Given the description of an element on the screen output the (x, y) to click on. 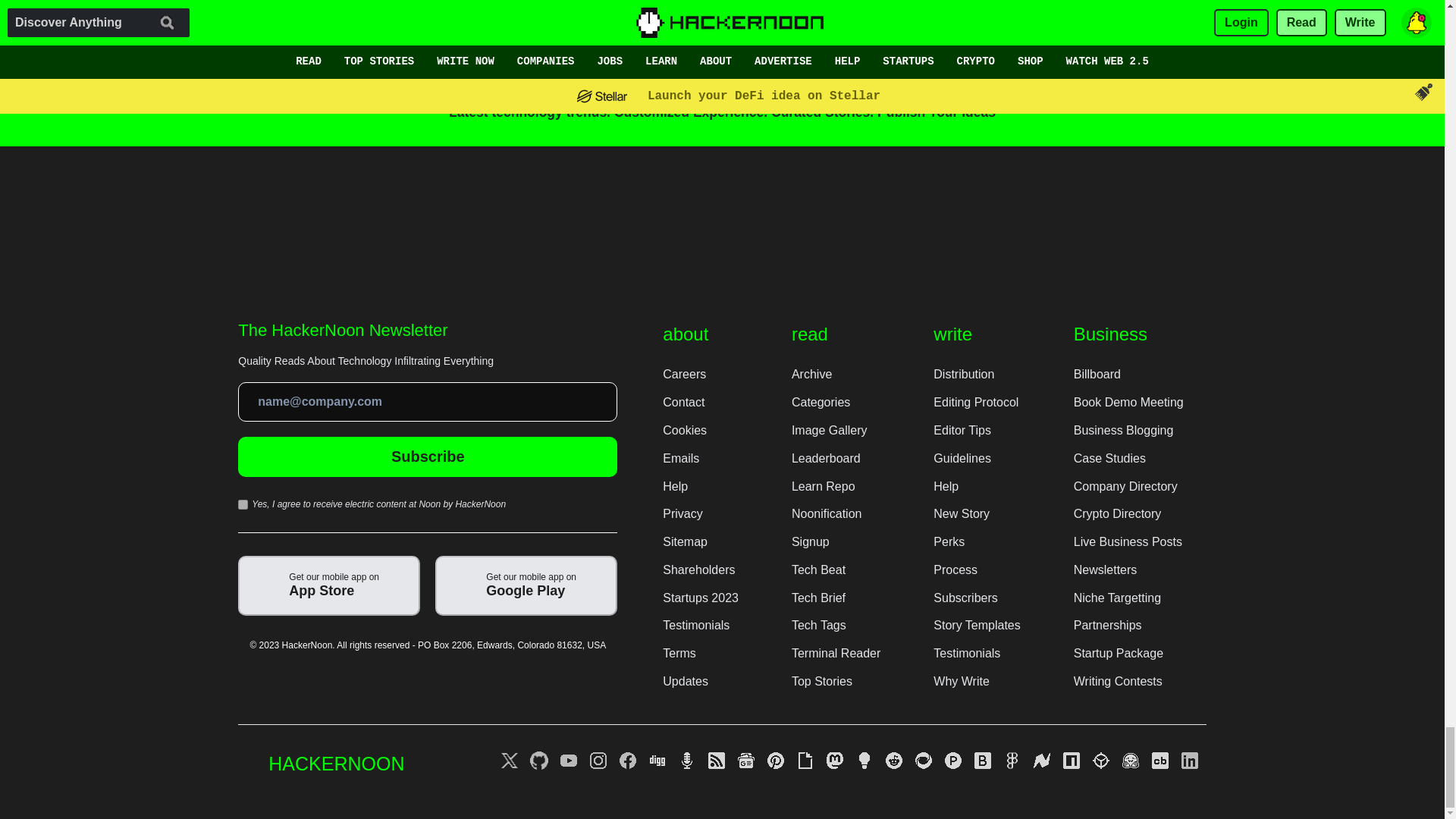
on (242, 504)
